Given the description of an element on the screen output the (x, y) to click on. 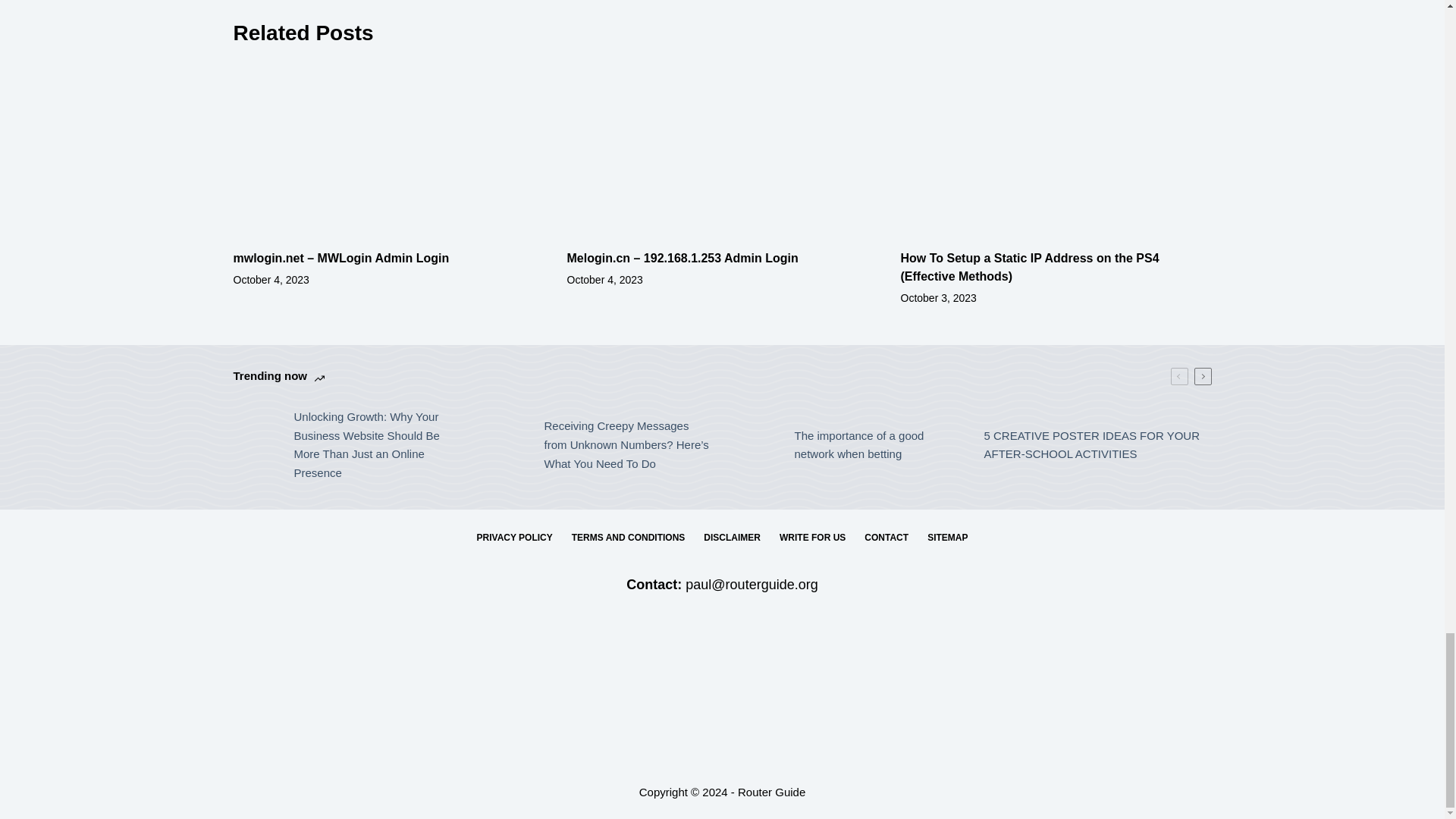
Content Protection by DMCA.com (721, 700)
